Given the description of an element on the screen output the (x, y) to click on. 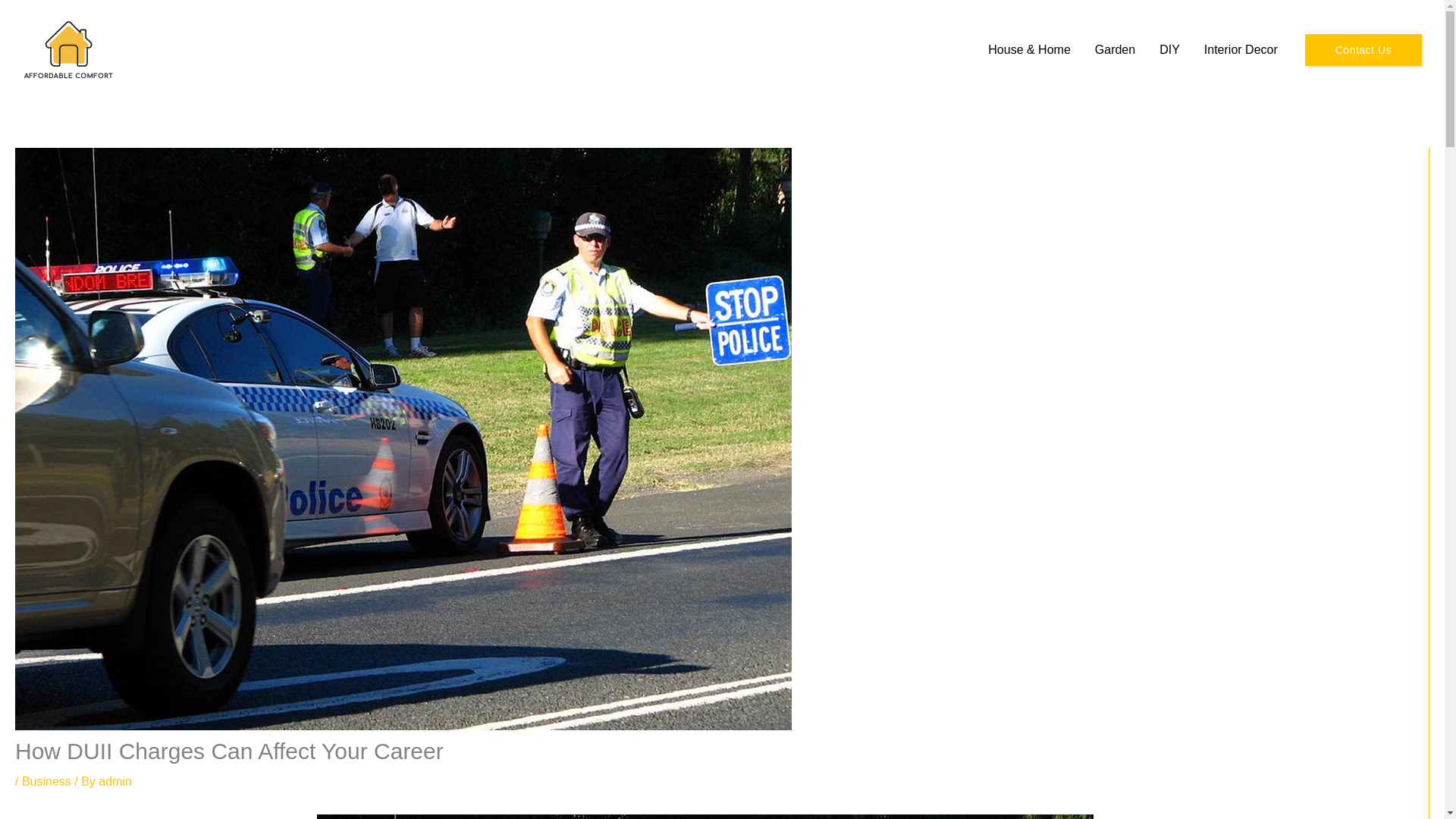
DIY (1169, 49)
Garden (1115, 49)
admin (115, 780)
View all posts by admin (115, 780)
Contact Us (1363, 49)
Business (46, 780)
Interior Decor (1241, 49)
